Given the description of an element on the screen output the (x, y) to click on. 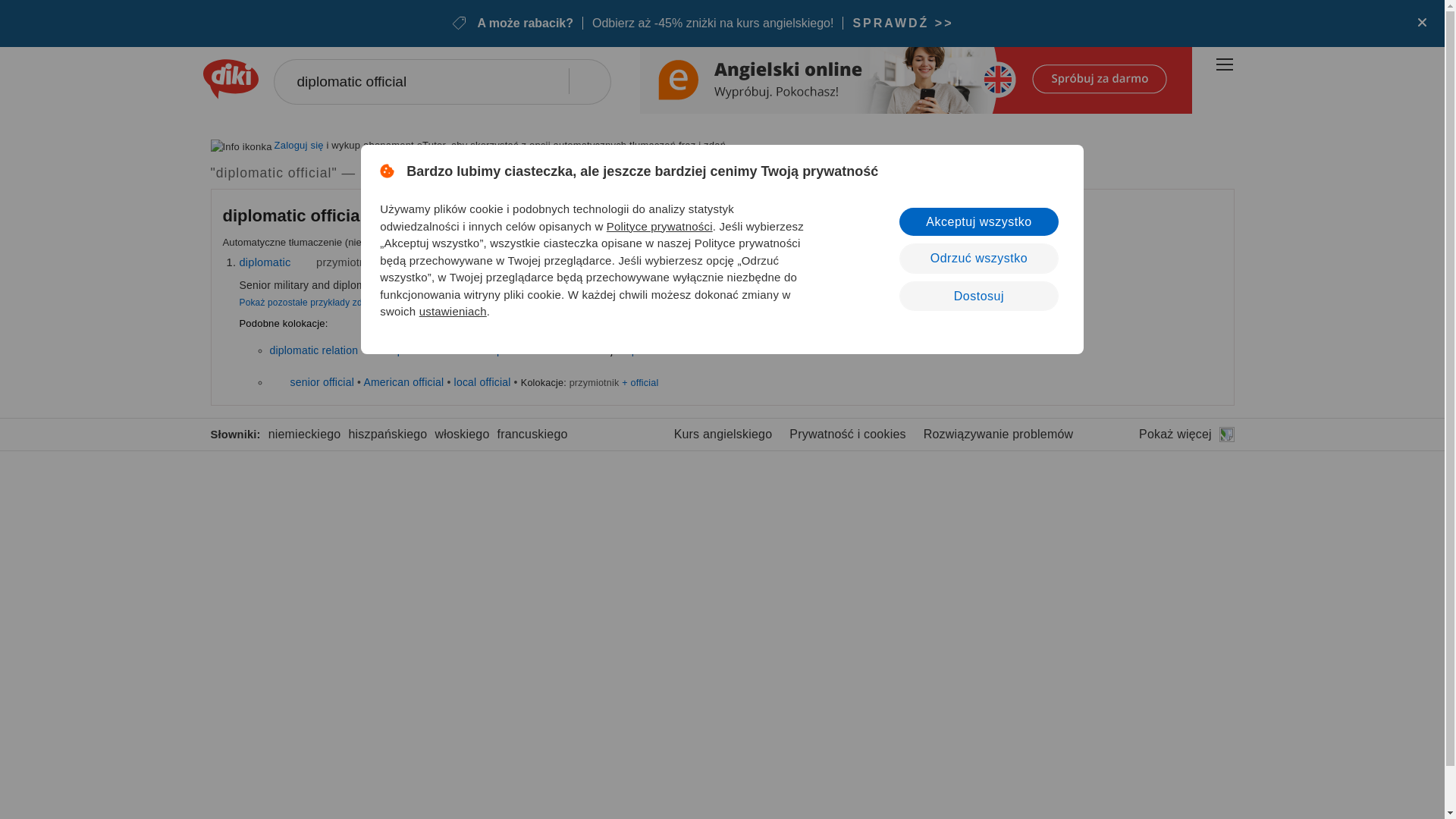
Szukaj (587, 80)
senior official (321, 381)
diplomatic official (293, 215)
diplomatic effort (526, 349)
diplomatic official (441, 81)
diplomatic mission (432, 349)
diplomatic relation (313, 349)
Uwaga: kolokacja wygenerowana automatycznie. (295, 215)
ustawieniach (452, 310)
diplomatic (265, 262)
